Given the description of an element on the screen output the (x, y) to click on. 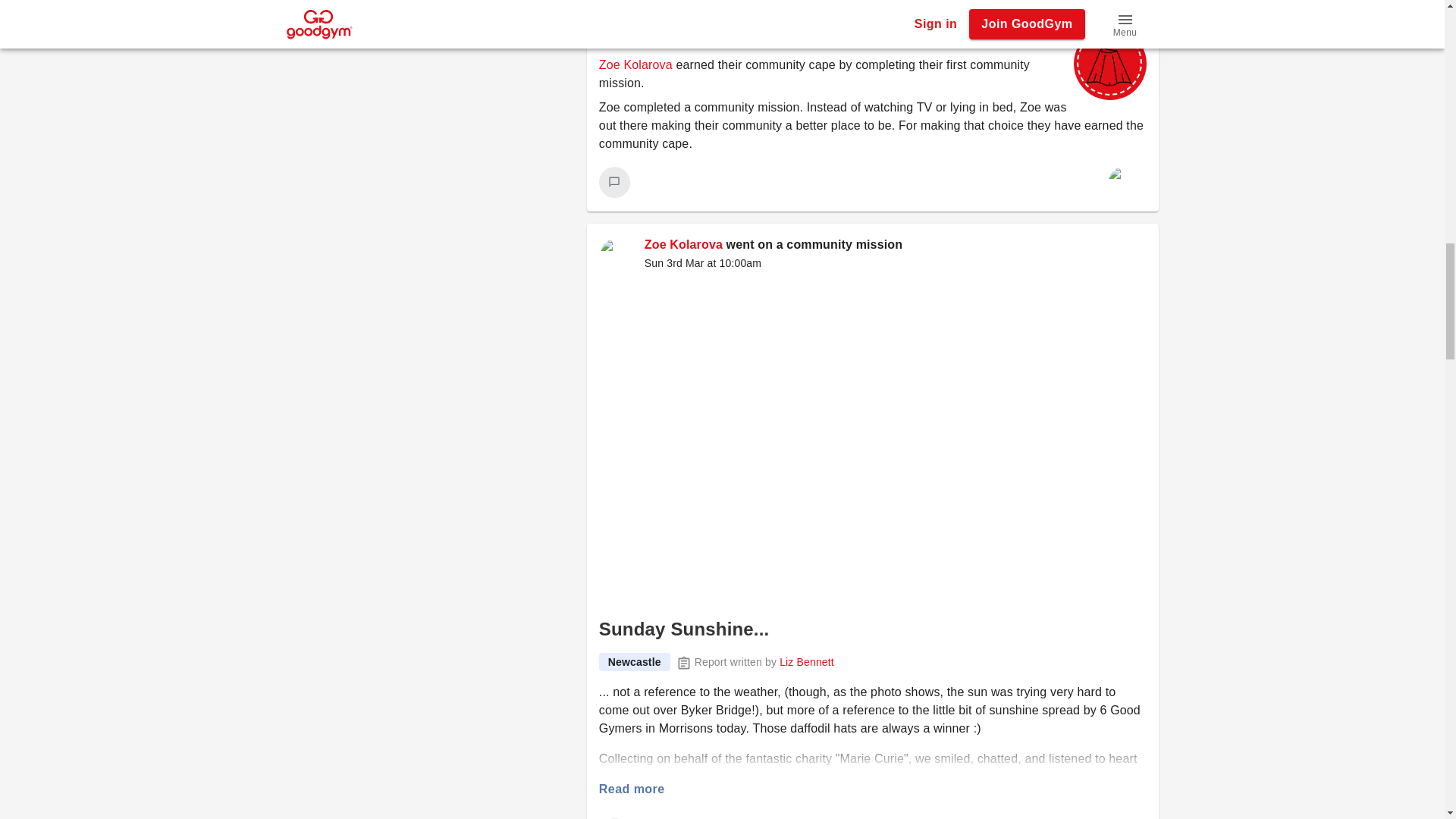
Zoe Kolarova (683, 244)
Sunday Sunshine... (684, 629)
Zoe Kolarova (635, 64)
